Given the description of an element on the screen output the (x, y) to click on. 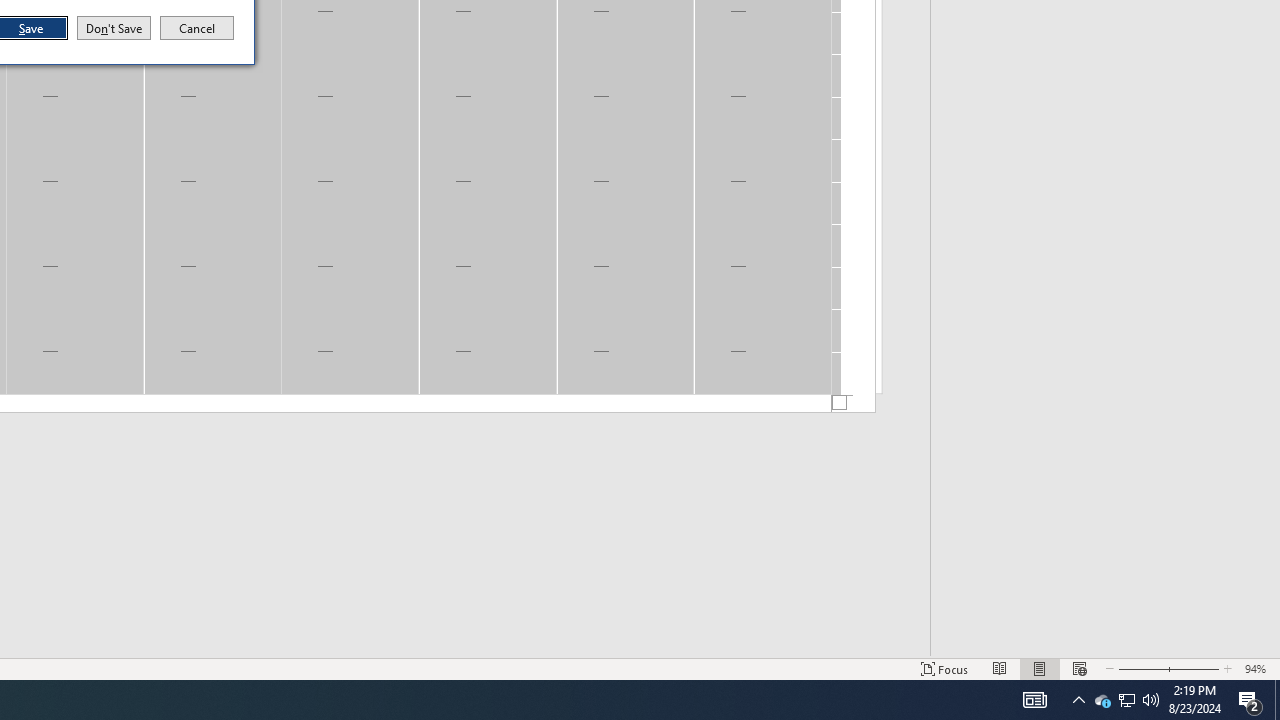
Print Layout (1039, 668)
Read Mode (1000, 668)
User Promoted Notification Area (1126, 699)
Action Center, 2 new notifications (1102, 699)
Show desktop (1250, 699)
Web Layout (1277, 699)
Zoom Out (1126, 699)
Q2790: 100% (1079, 668)
Cancel (1140, 668)
Focus  (1151, 699)
